Given the description of an element on the screen output the (x, y) to click on. 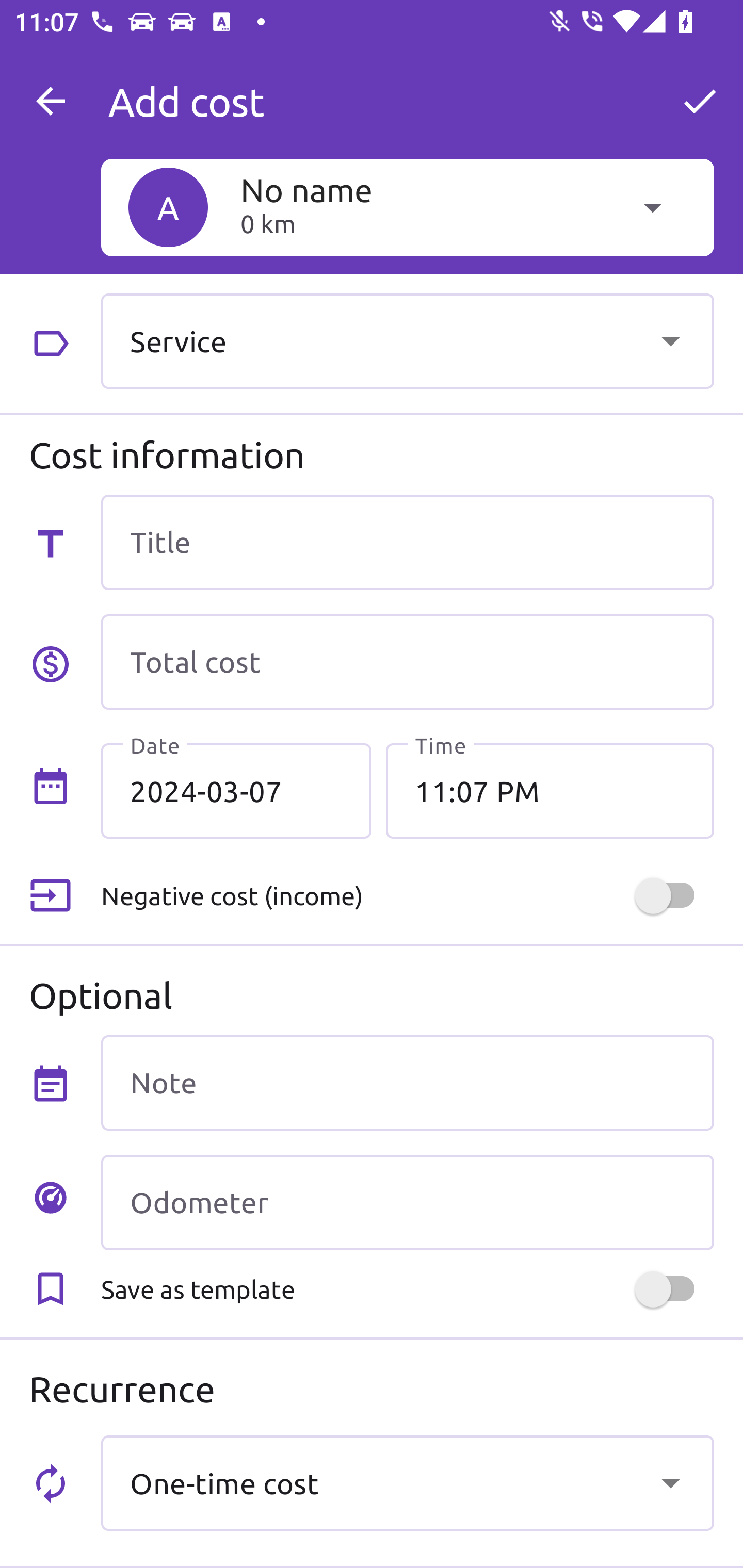
Navigate up (50, 101)
OK (699, 101)
A No name 0 km (407, 206)
Service (407, 340)
Show dropdown menu (670, 340)
Title (407, 541)
Total cost  (407, 662)
2024-03-07 (236, 790)
11:07 PM (549, 790)
Negative cost (income) (407, 895)
Note (407, 1082)
Odometer (407, 1202)
Save as template (407, 1289)
One-time cost (407, 1482)
Show dropdown menu (670, 1482)
